Given the description of an element on the screen output the (x, y) to click on. 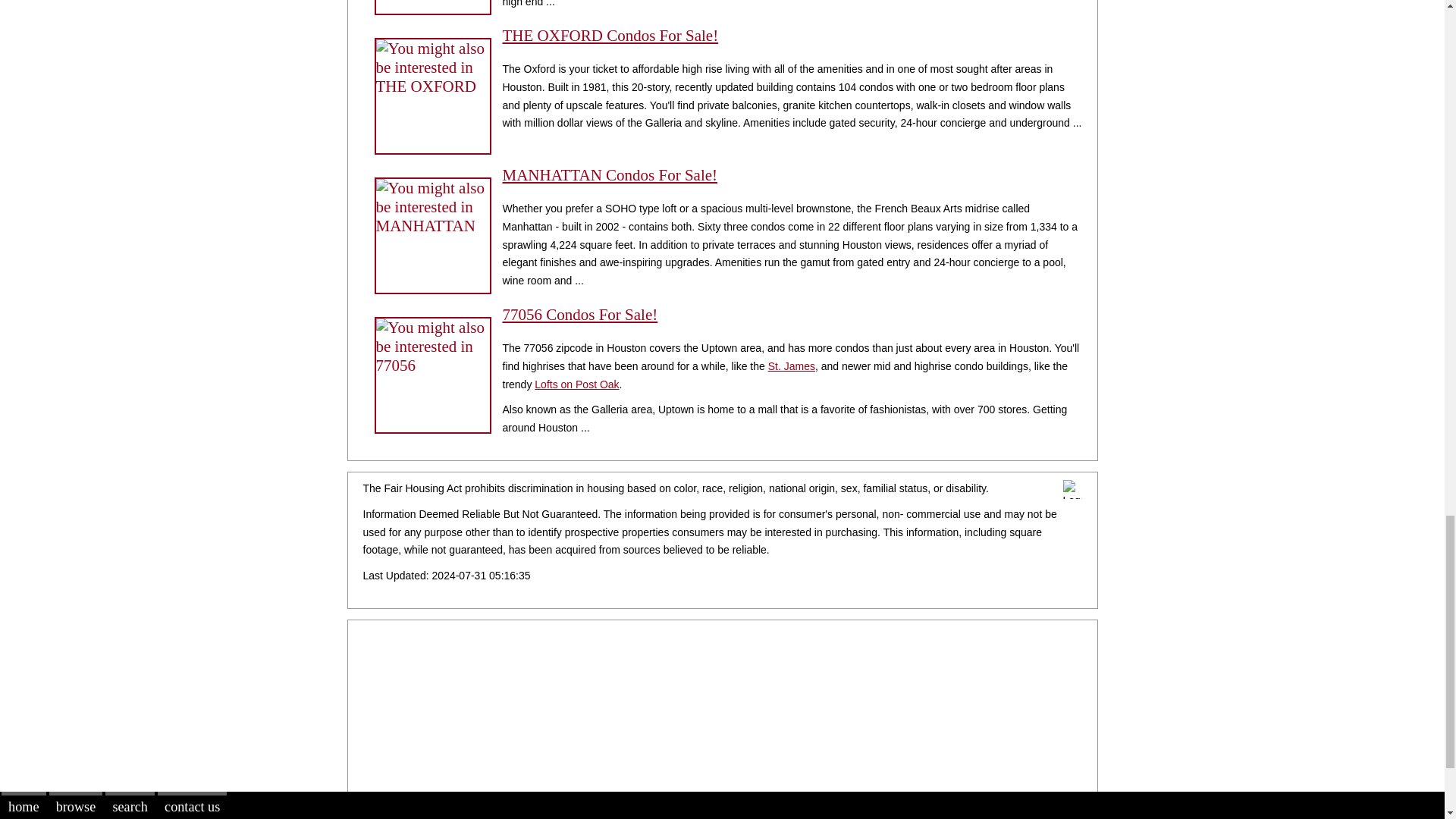
St. James (791, 366)
Lofts on Post Oak (576, 384)
77056 Condos For Sale! (580, 314)
MANHATTAN Condos For Sale! (609, 175)
THE OXFORD Condos For Sale! (609, 35)
EMPIRE Condos For Sale (433, 7)
